Given the description of an element on the screen output the (x, y) to click on. 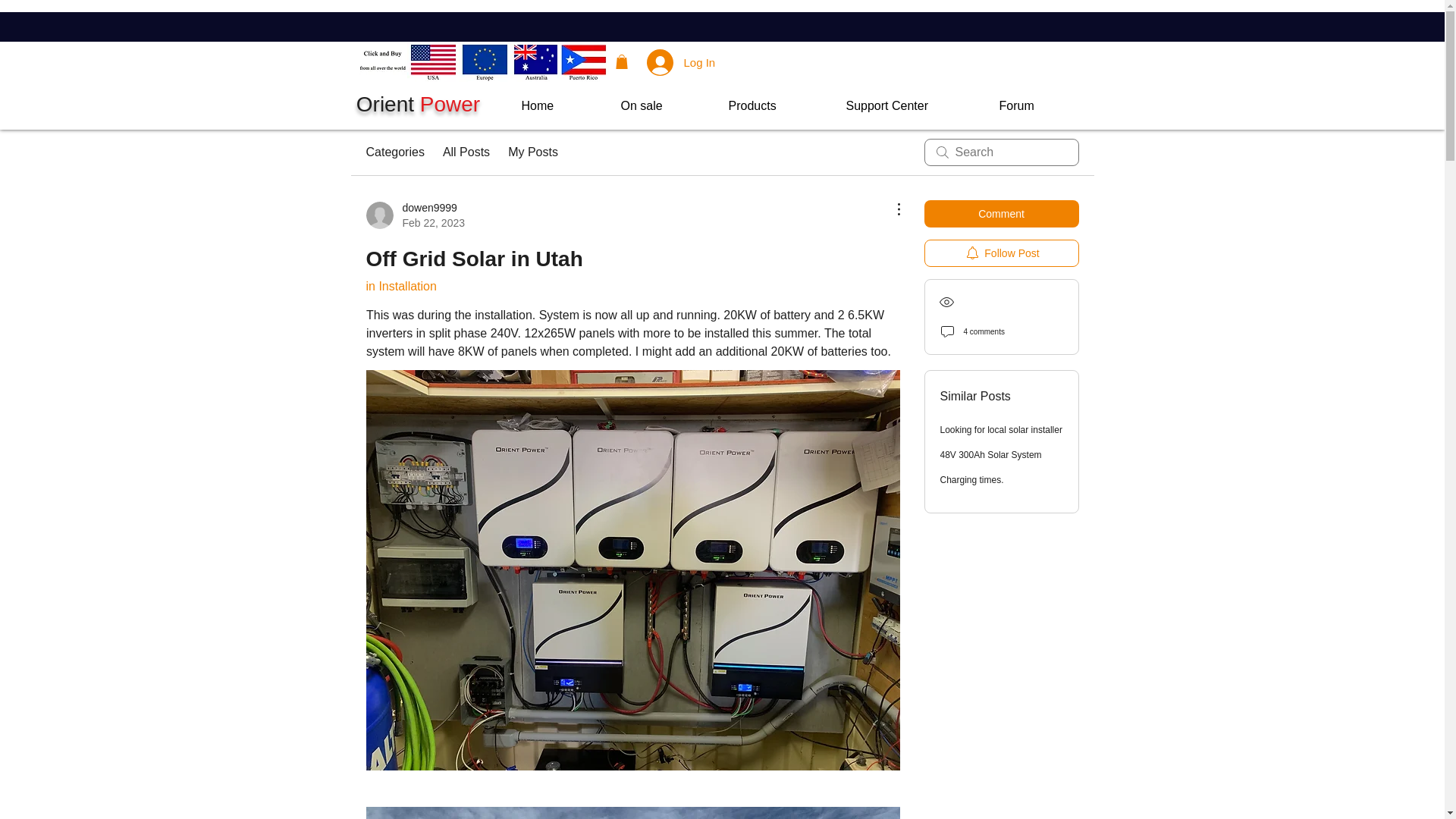
Categories (394, 152)
All Posts (465, 152)
Products (775, 105)
On sale (663, 105)
Orient Power (414, 214)
My Posts (418, 104)
in Installation (532, 152)
Forum (400, 286)
Support Center (1038, 105)
